Given the description of an element on the screen output the (x, y) to click on. 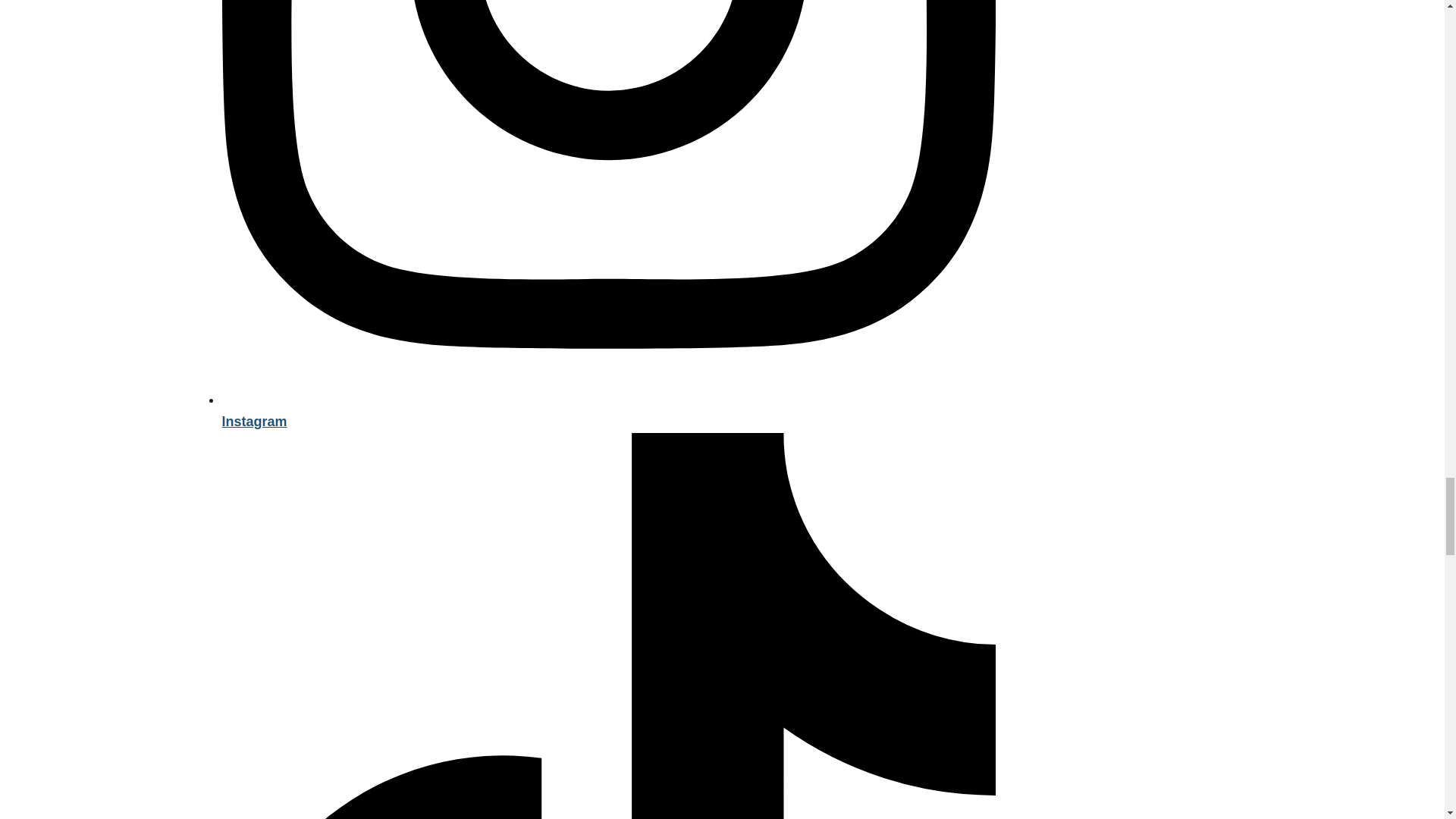
Instagram (607, 410)
